Given the description of an element on the screen output the (x, y) to click on. 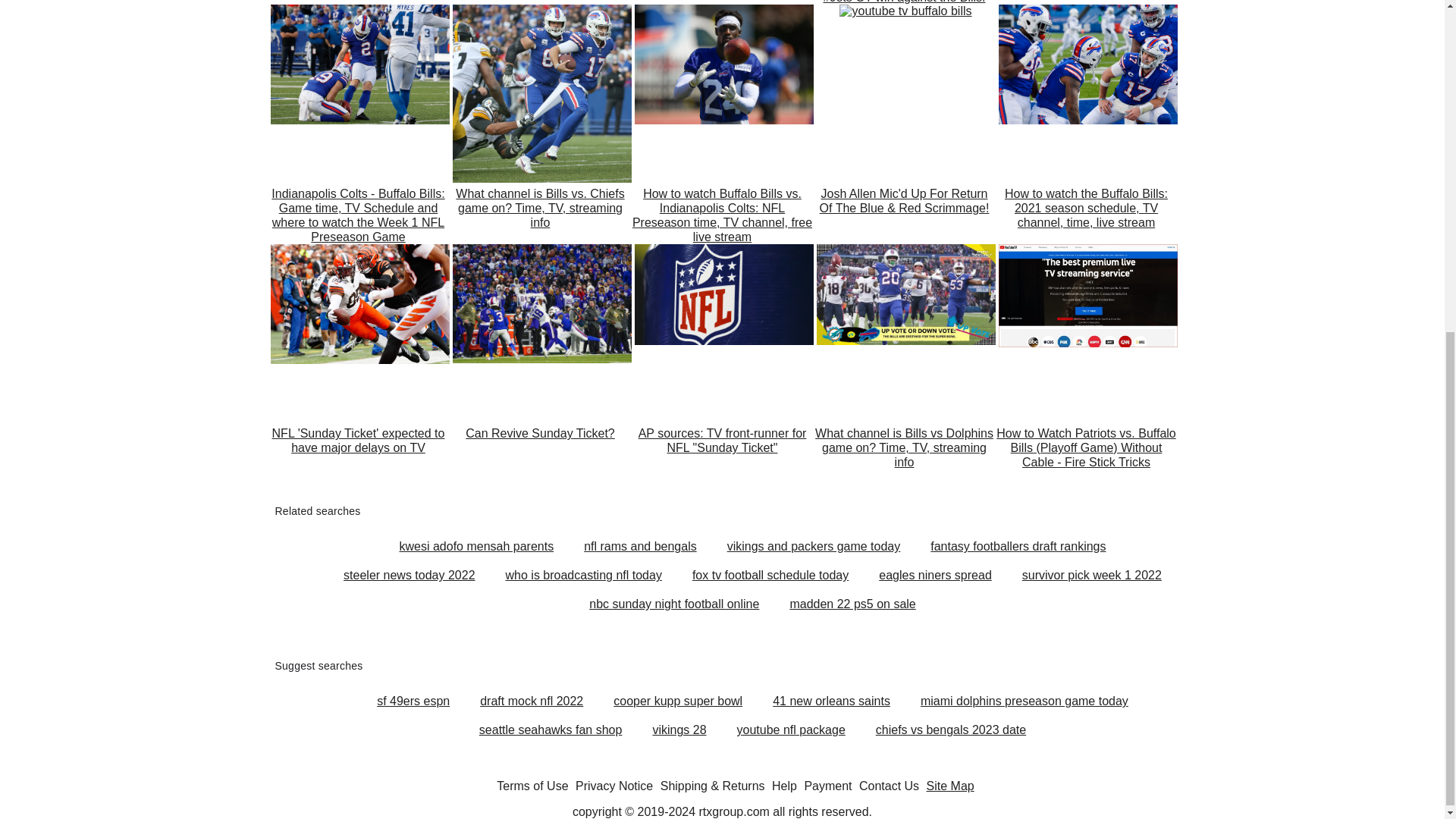
How can the Buffalo Bills take a step forward? (721, 2)
NFL Sunday Ticket Pricing Announced for 2023 Season (357, 2)
NFL Sunday Ticket Pricing Announced for 2023 Season (357, 2)
